Given the description of an element on the screen output the (x, y) to click on. 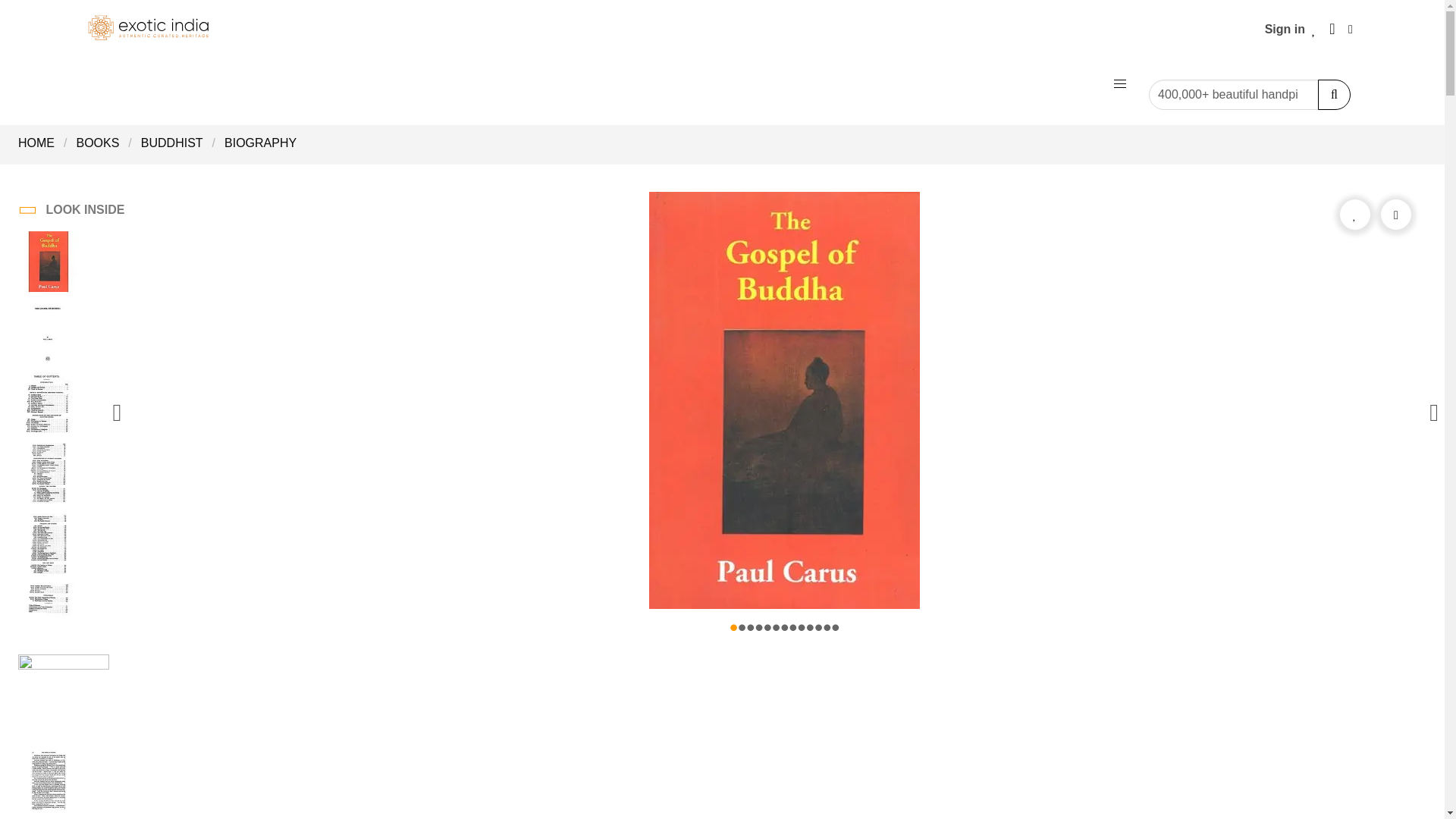
BIOGRAPHY (260, 143)
Sign in (1284, 29)
Buddhist (172, 143)
Sign in (1284, 29)
Home (40, 143)
The Gospel of Buddha (47, 263)
HOME (40, 143)
BOOKS (97, 143)
The Gospel of Buddha (47, 404)
BUDDHIST (172, 143)
Biography (260, 143)
The Gospel of Buddha (47, 475)
Wishlist (1313, 29)
Books (97, 143)
The Gospel of Buddha (47, 545)
